Given the description of an element on the screen output the (x, y) to click on. 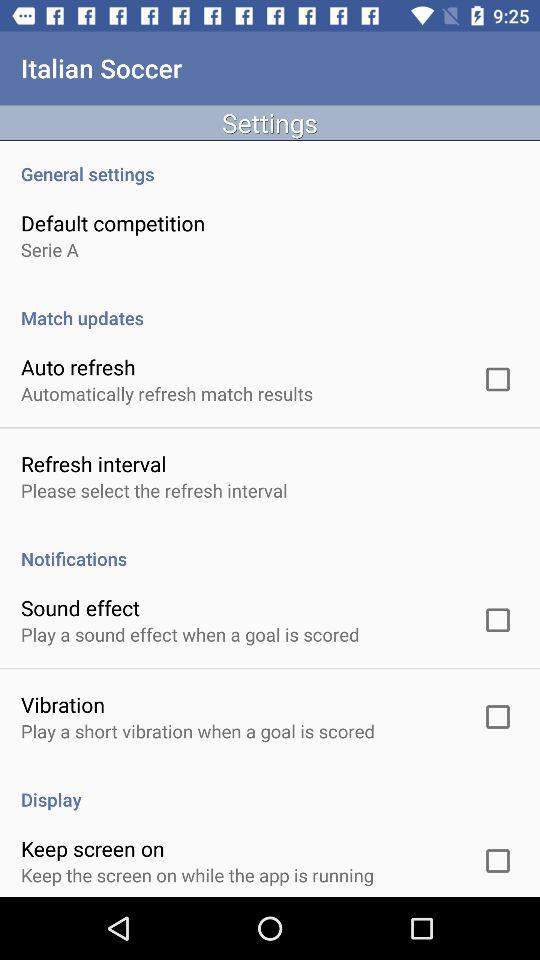
turn off item above the keep screen on icon (270, 788)
